Given the description of an element on the screen output the (x, y) to click on. 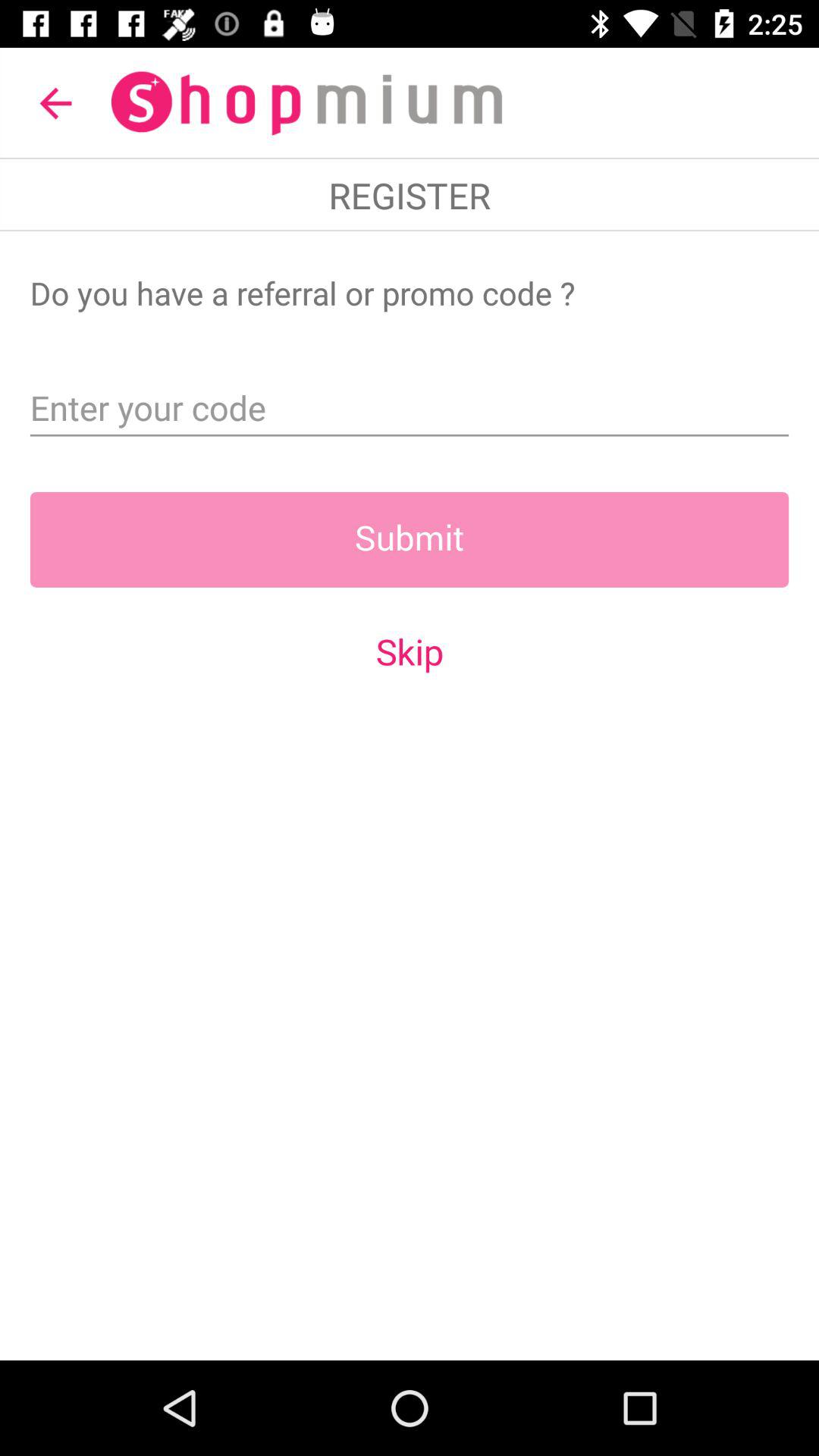
tap the item at the top left corner (55, 103)
